Given the description of an element on the screen output the (x, y) to click on. 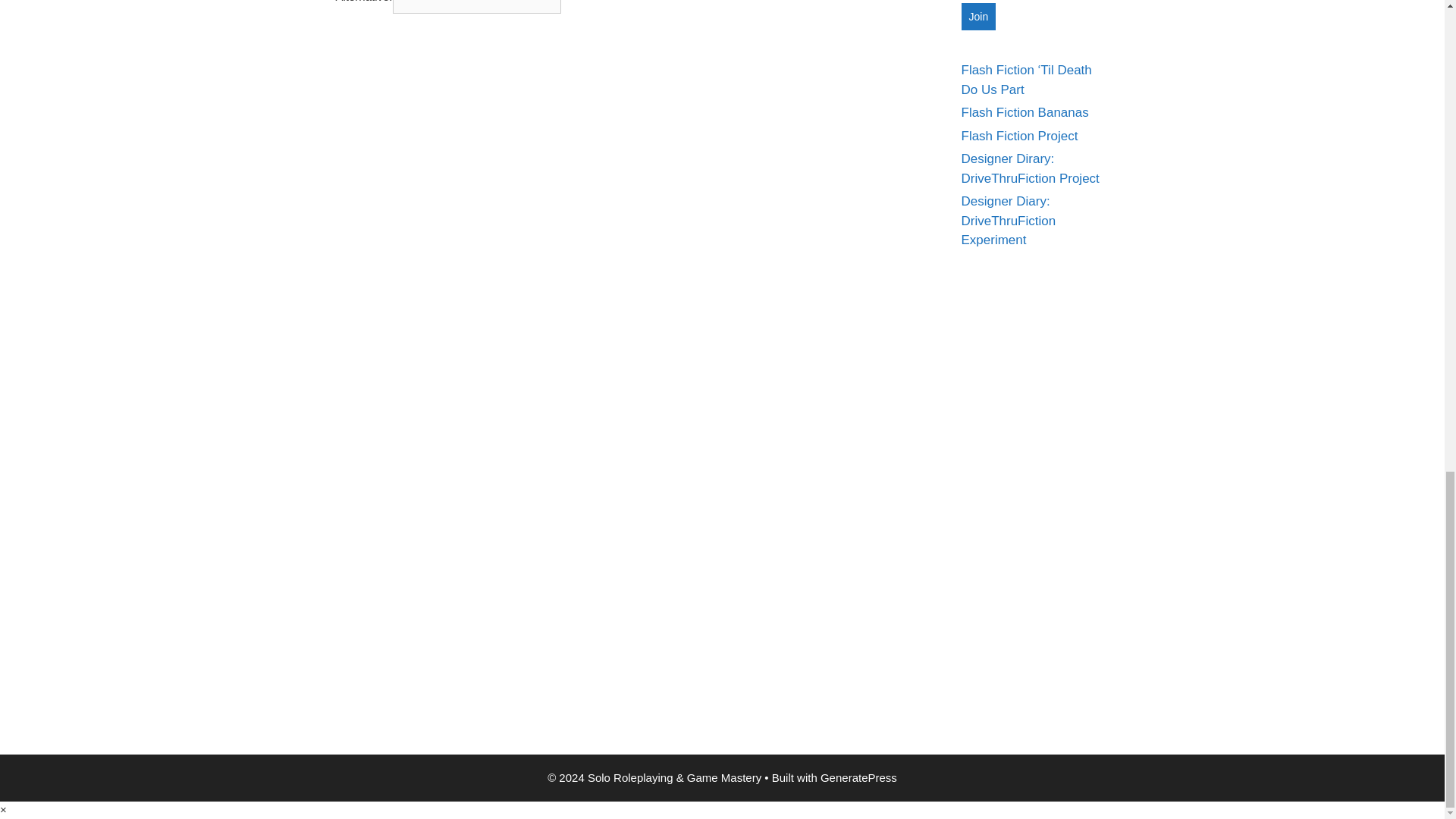
Designer Diary: DriveThruFiction Experiment (1008, 220)
GeneratePress (858, 777)
Designer Dirary: DriveThruFiction Project (1029, 168)
Flash Fiction Project (1019, 135)
Join (977, 16)
Flash Fiction Bananas (1024, 112)
Join (977, 16)
